Given the description of an element on the screen output the (x, y) to click on. 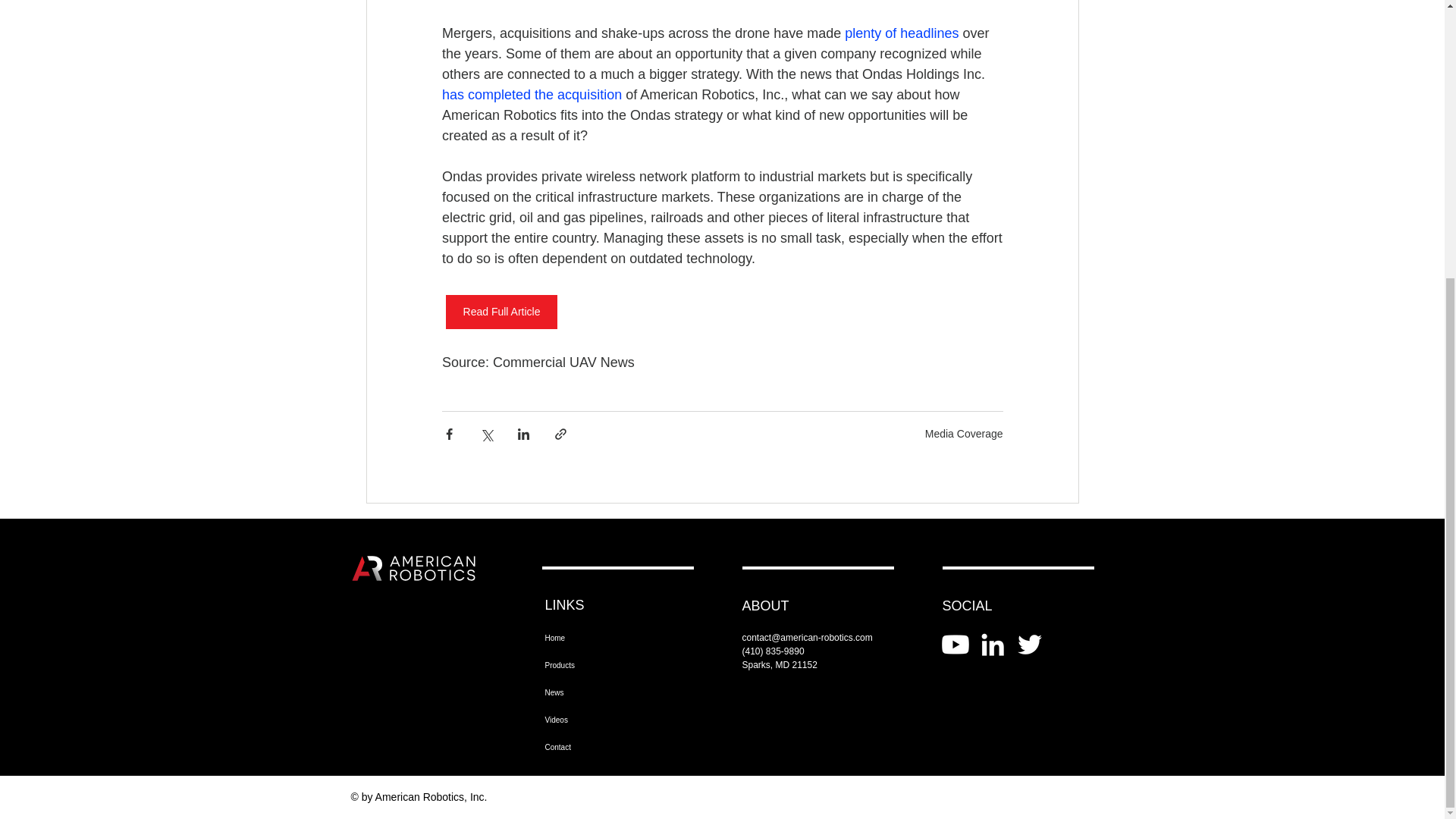
plenty of headlines (901, 32)
See All (1061, 531)
What to Know About the Growing Drone Market (967, 716)
has completed the acquisition (531, 94)
Read Full Article (501, 311)
Media Coverage (963, 433)
